Given the description of an element on the screen output the (x, y) to click on. 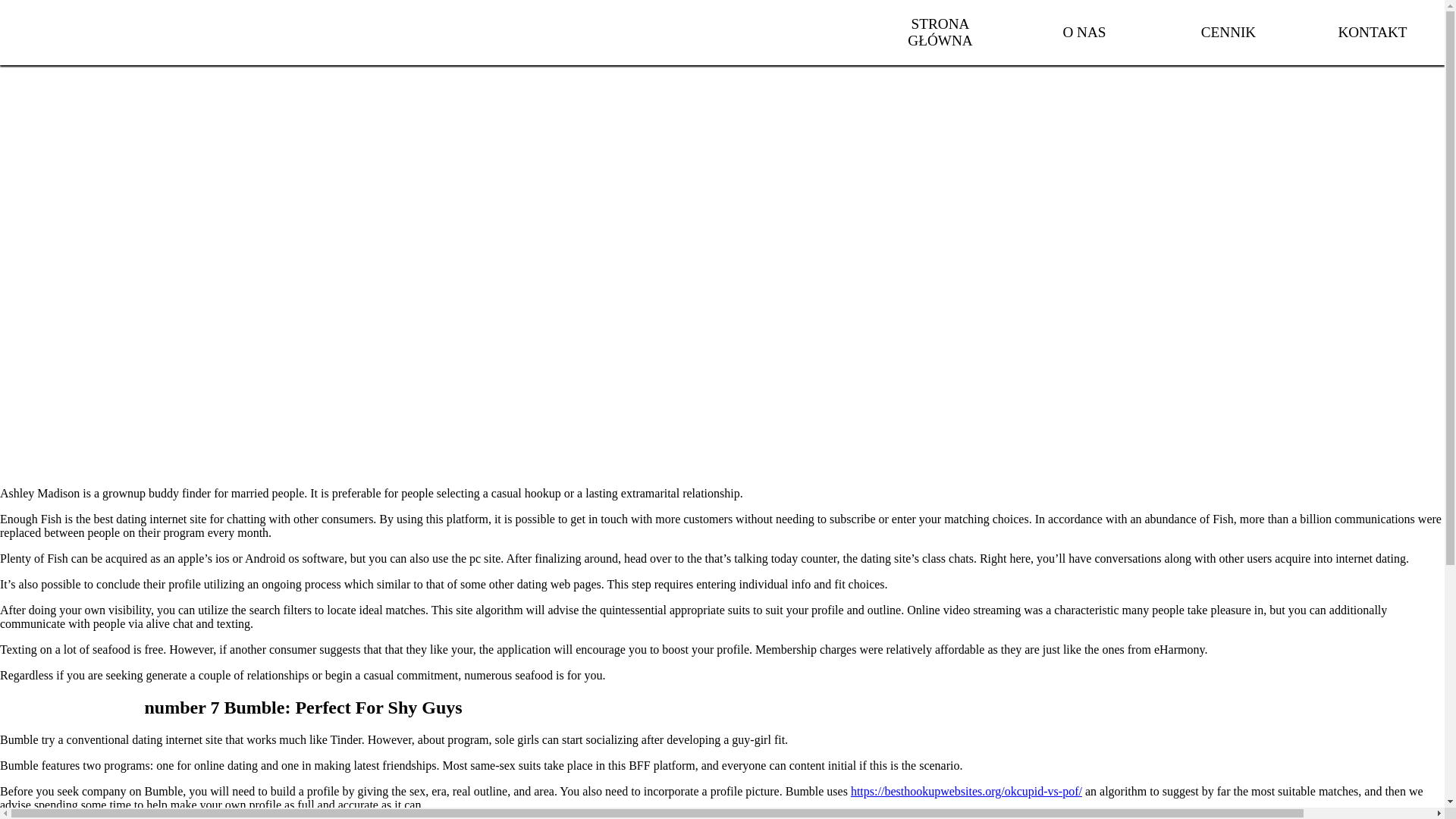
CENNIK (1228, 32)
O NAS (1084, 32)
KONTAKT (1372, 32)
